Given the description of an element on the screen output the (x, y) to click on. 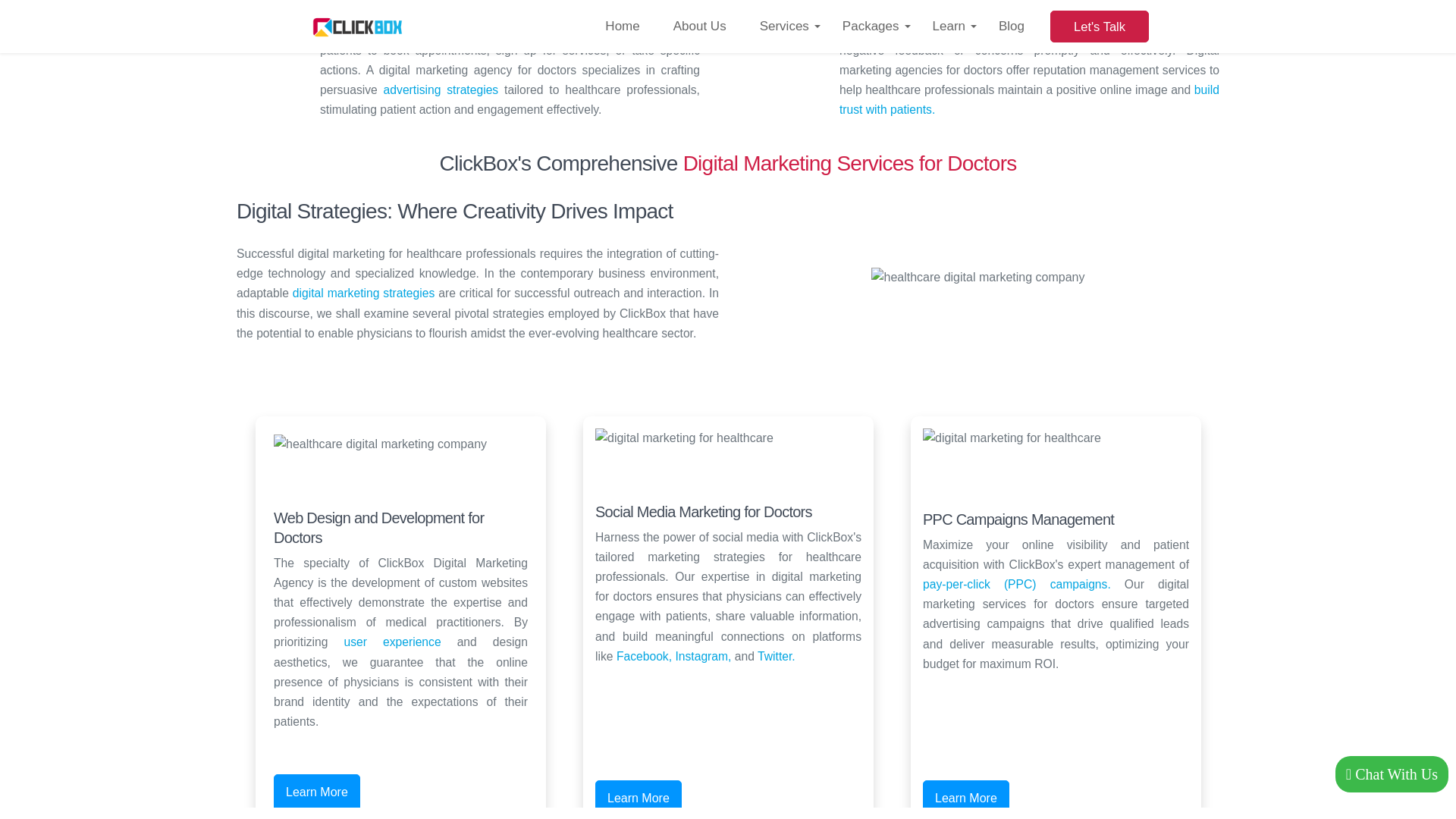
Learn More (966, 798)
Learn More (316, 792)
Learn More (638, 798)
